Given the description of an element on the screen output the (x, y) to click on. 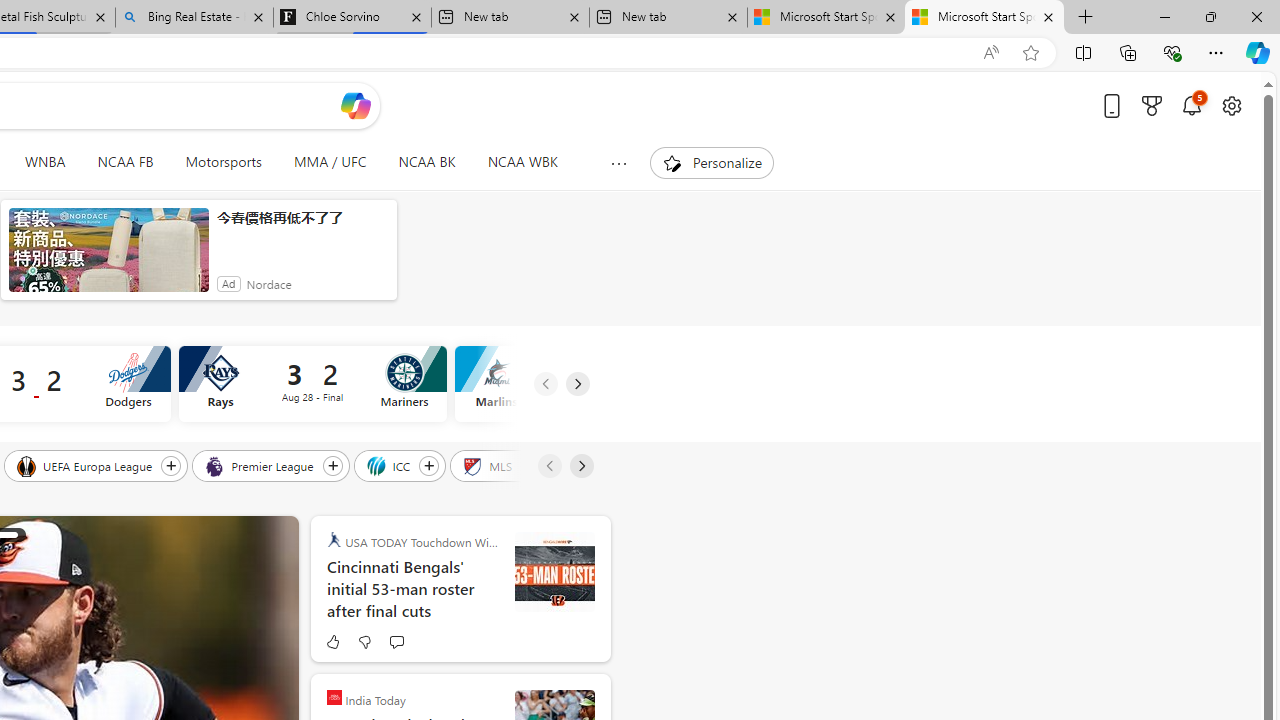
Follow ICC (429, 465)
